Given the description of an element on the screen output the (x, y) to click on. 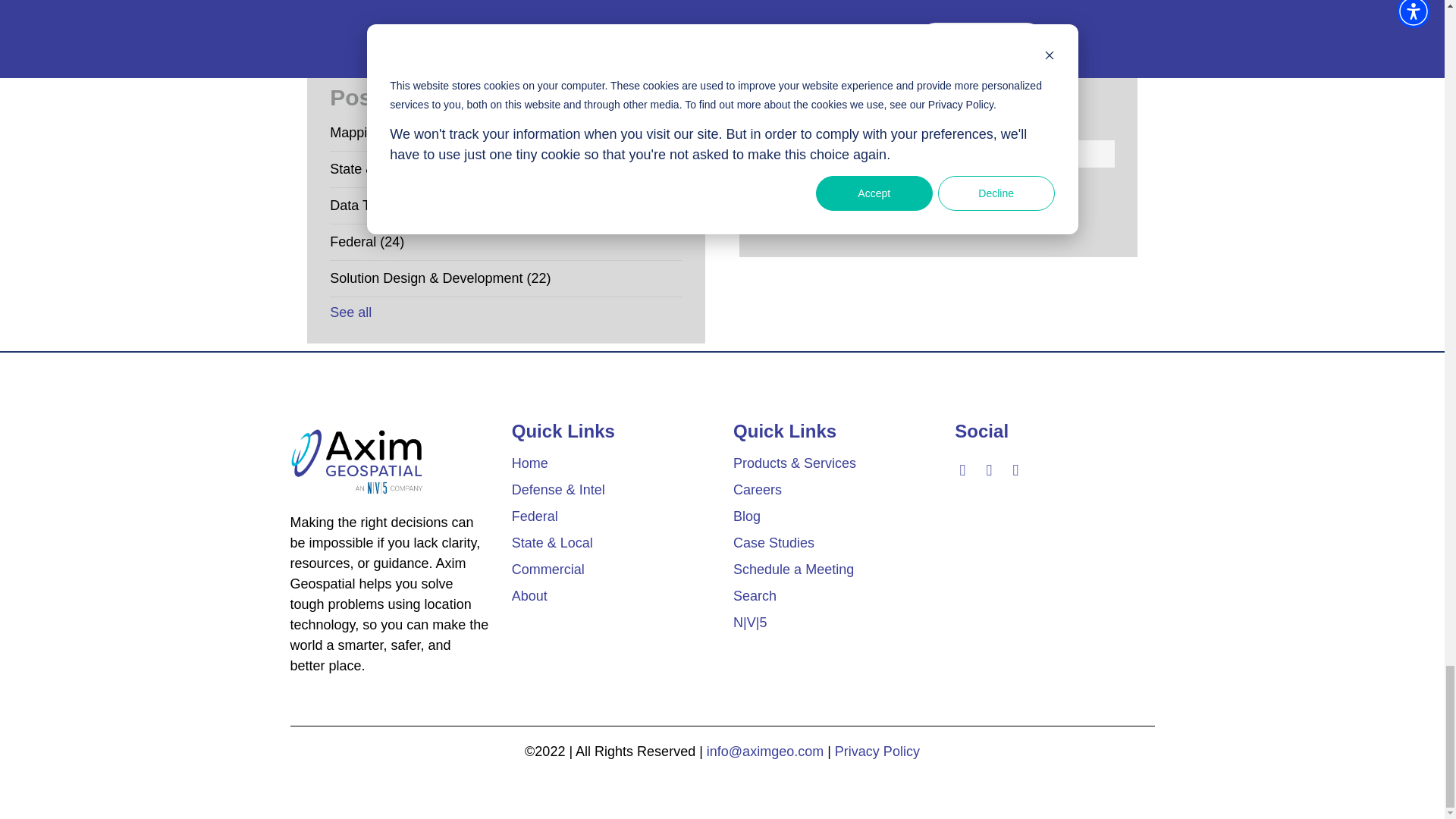
Subscribe (813, 202)
